Given the description of an element on the screen output the (x, y) to click on. 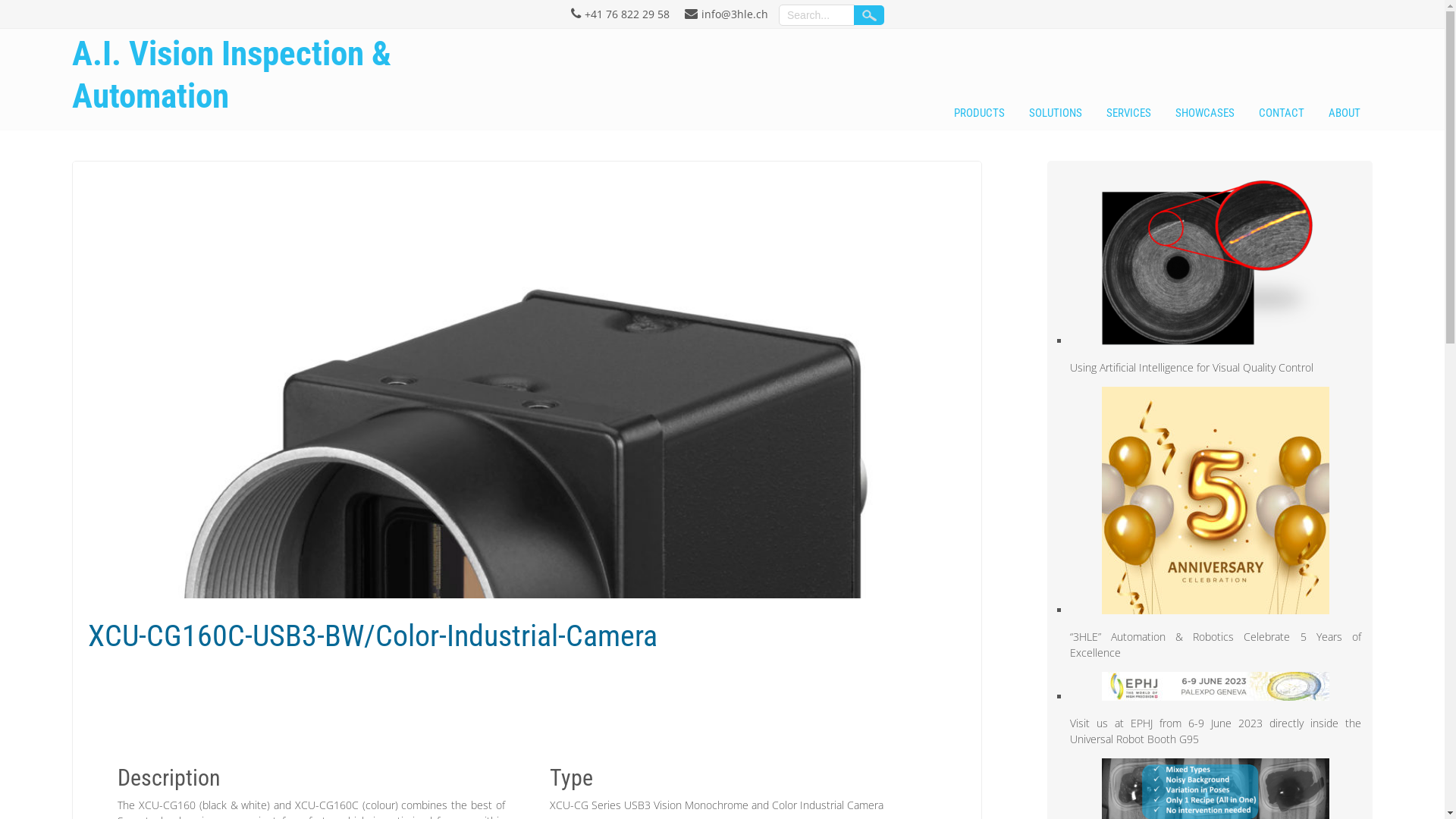
SOLUTIONS Element type: text (1055, 115)
CONTACT Element type: text (1281, 115)
Search Element type: text (868, 15)
SHOWCASES Element type: text (1204, 115)
PRODUCTS Element type: text (979, 115)
ABOUT Element type: text (1344, 115)
SERVICES Element type: text (1128, 115)
Using Artificial Intelligence for Visual Quality Control Element type: text (1191, 366)
